Given the description of an element on the screen output the (x, y) to click on. 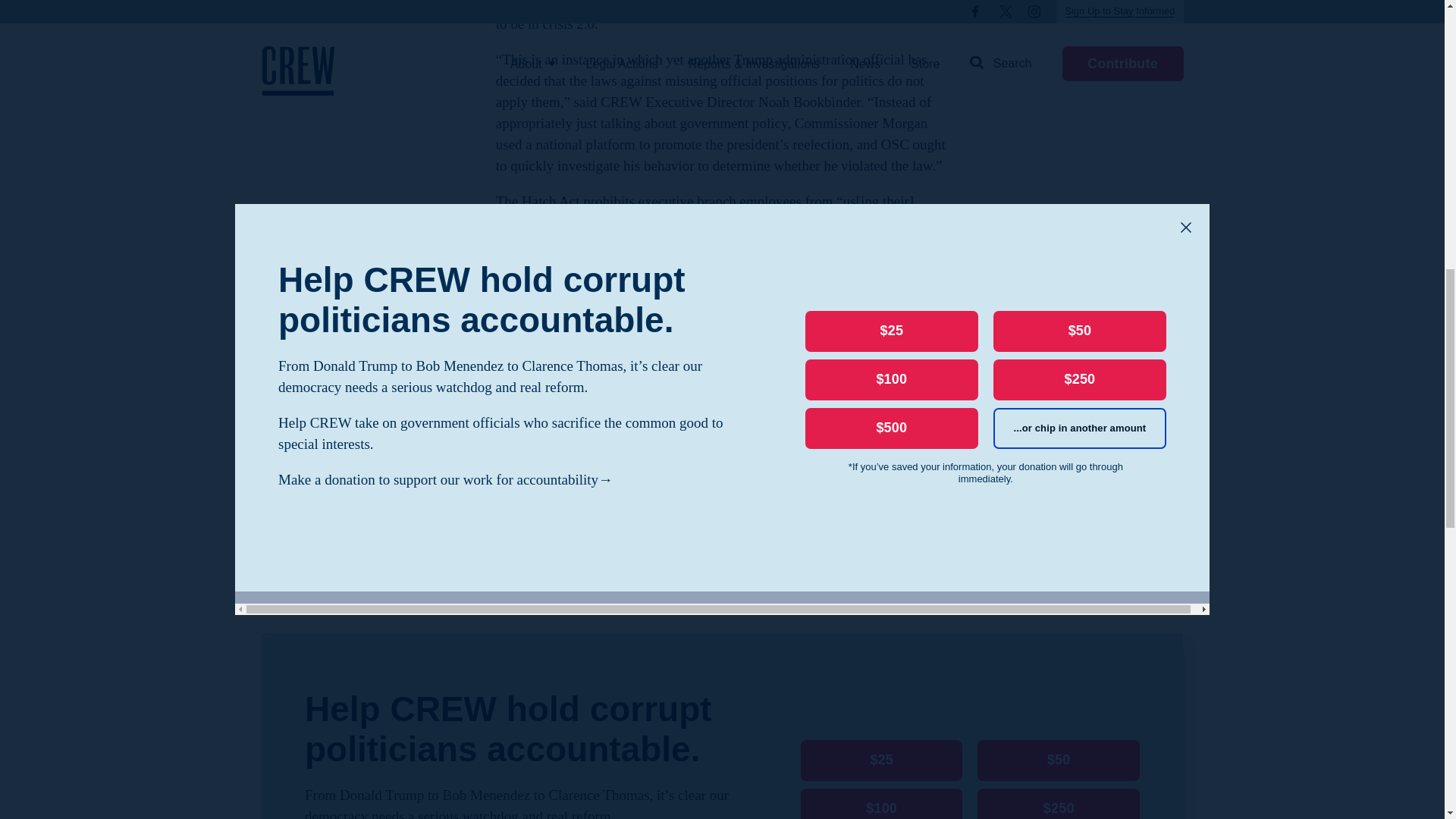
reprimanded (704, 342)
Click here to view the complaint. (721, 553)
complaints (866, 406)
removed (589, 449)
